Given the description of an element on the screen output the (x, y) to click on. 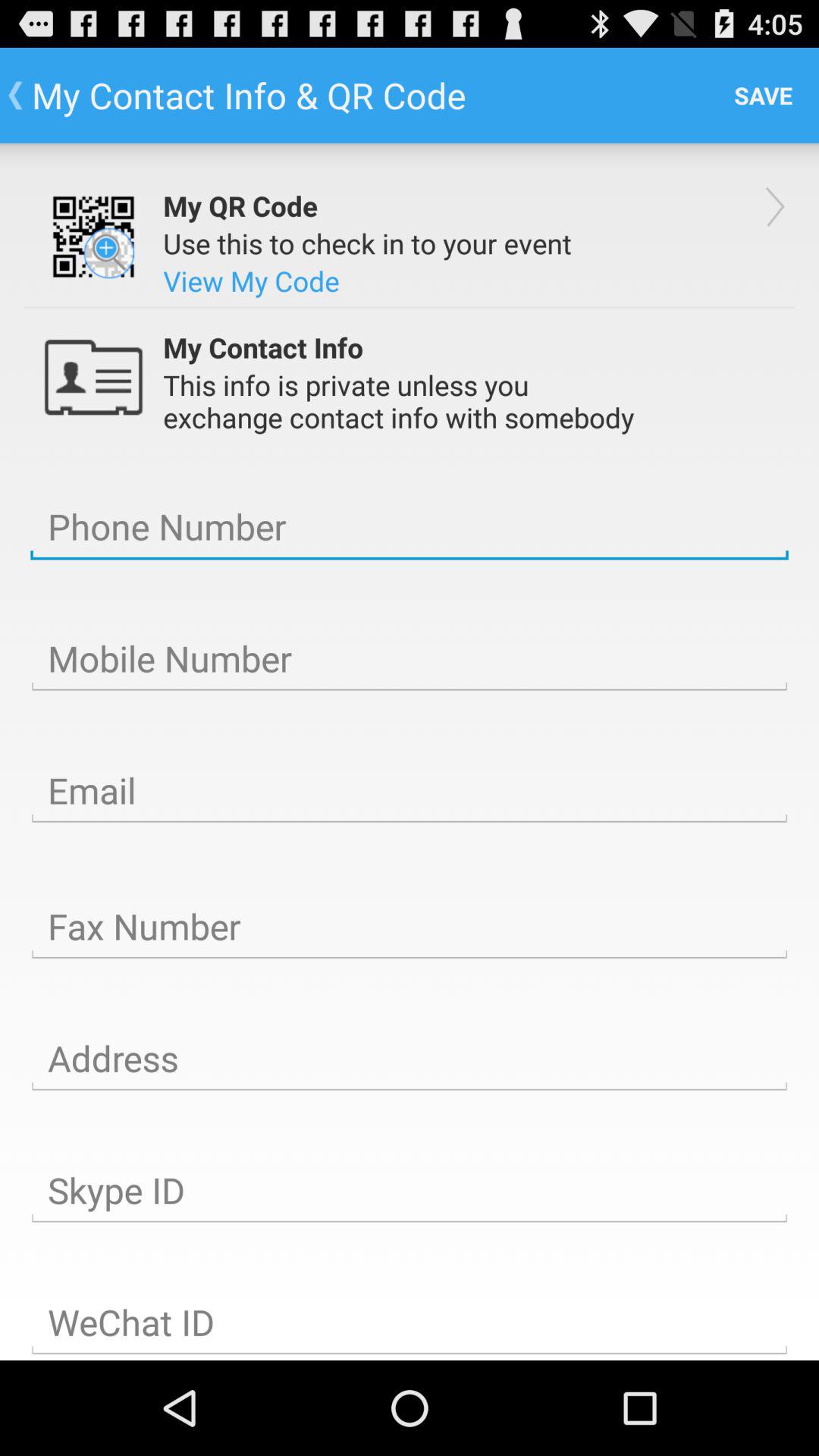
input the id (409, 1321)
